Given the description of an element on the screen output the (x, y) to click on. 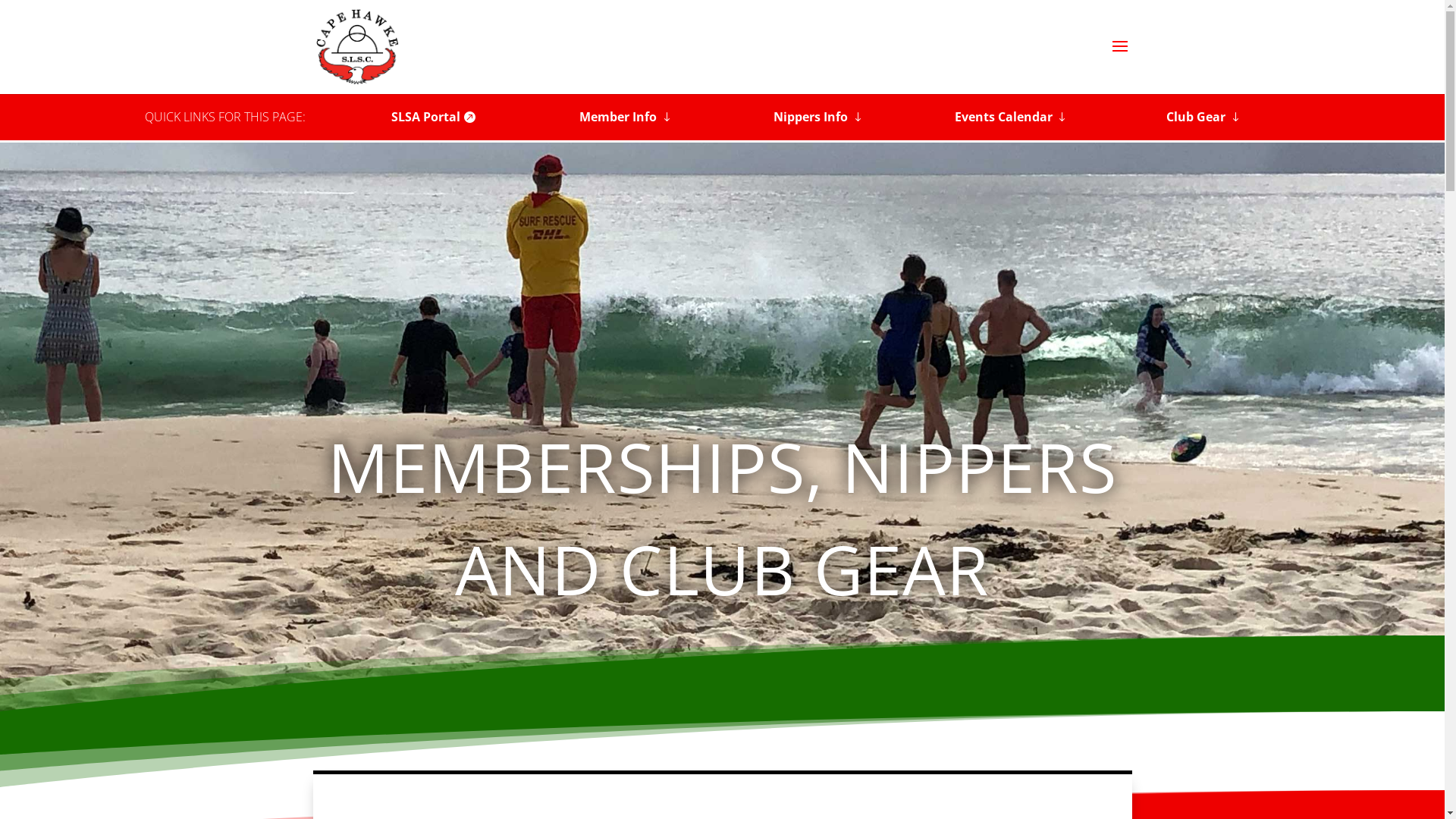
SLSA Portal Element type: text (432, 116)
Nippers Info Element type: text (818, 116)
Club Gear Element type: text (1203, 116)
Events Calendar Element type: text (1010, 116)
Member Info Element type: text (625, 116)
